Given the description of an element on the screen output the (x, y) to click on. 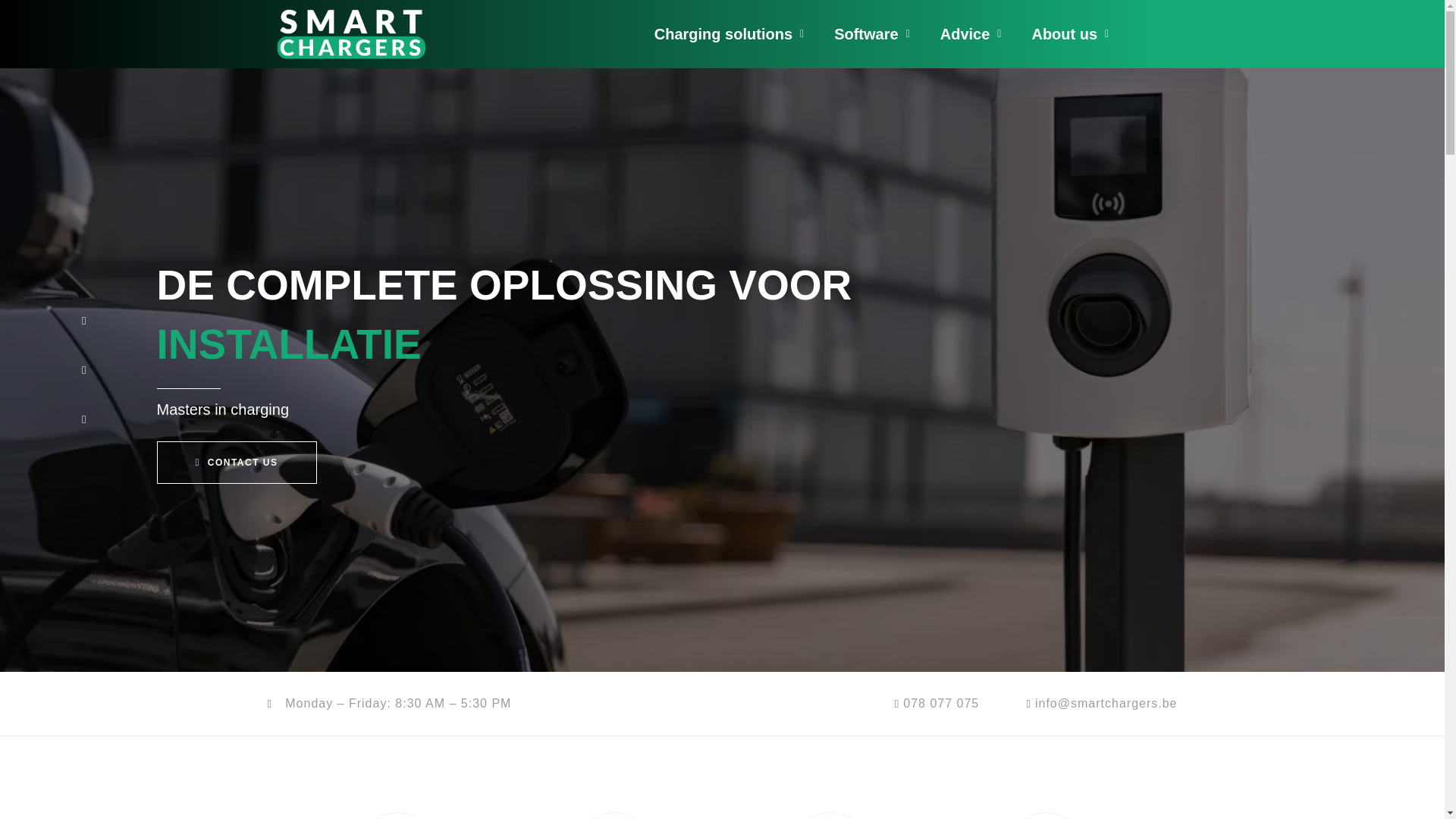
Charging solutions (728, 34)
Software (871, 34)
Advice (970, 34)
About us (1070, 34)
